Given the description of an element on the screen output the (x, y) to click on. 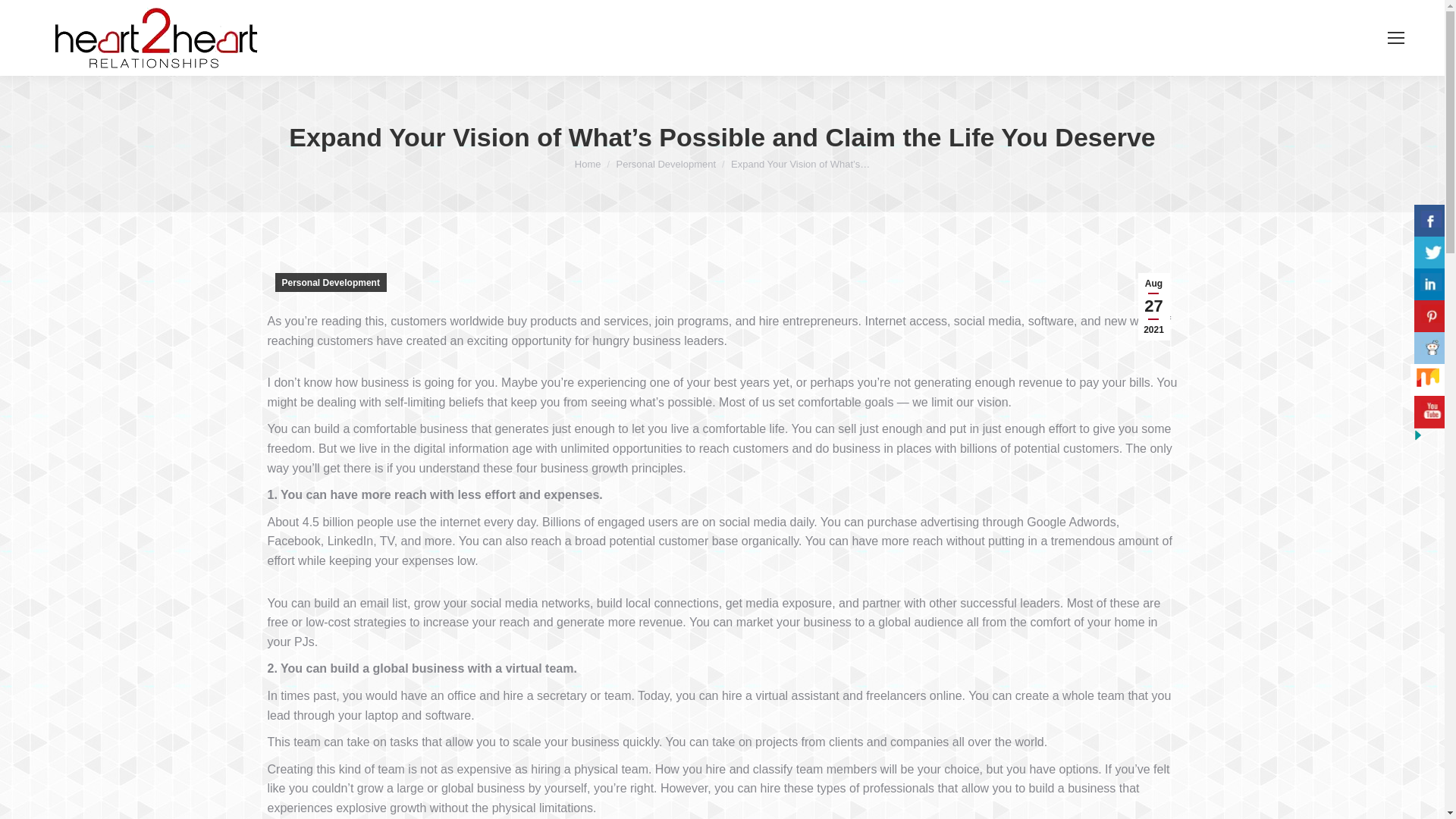
Home (588, 163)
Personal Development (665, 163)
Personal Development (330, 281)
Home (588, 163)
Personal Development (665, 163)
